Given the description of an element on the screen output the (x, y) to click on. 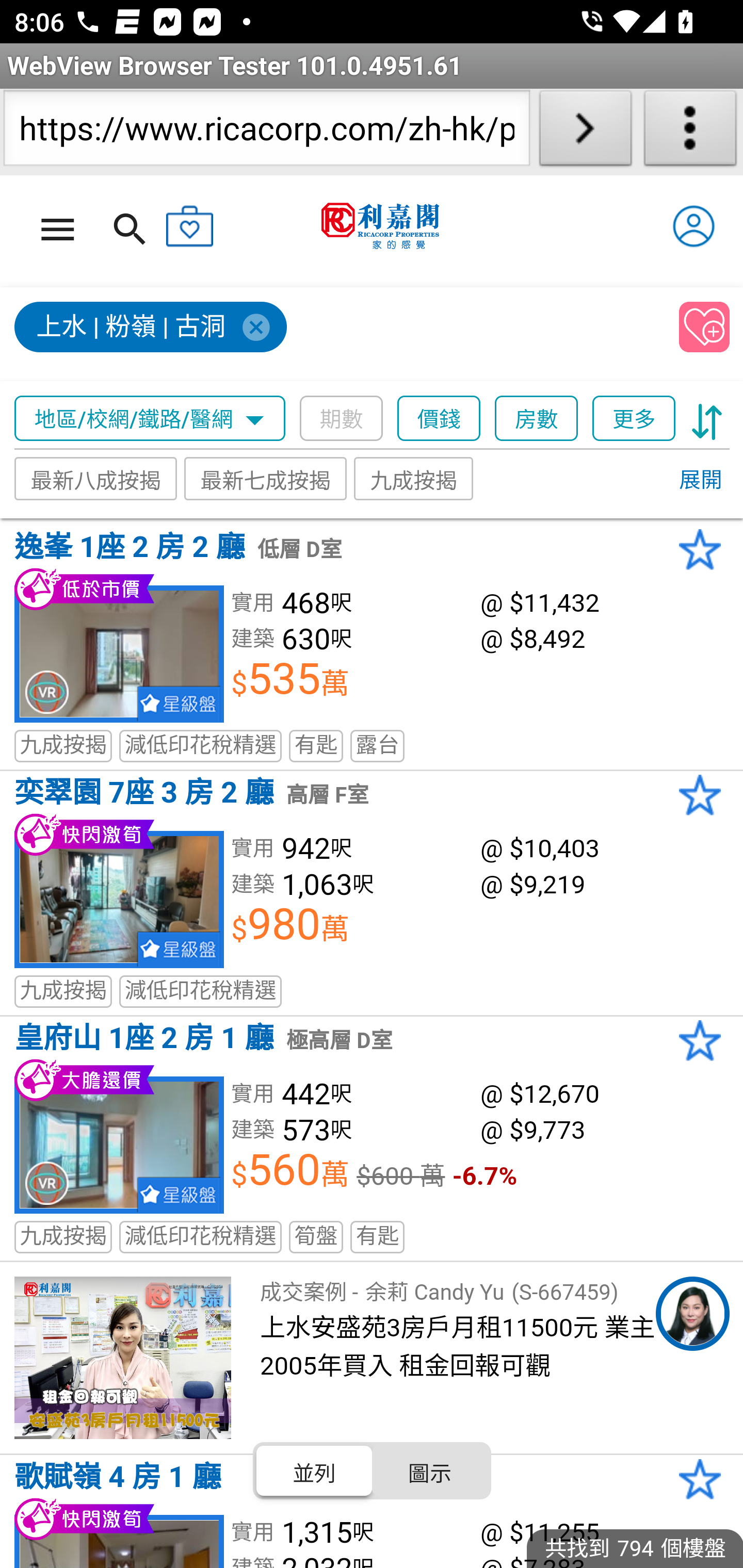
Load URL (585, 132)
About WebView (690, 132)
上水 | 粉嶺 | 古洞 (151, 327)
save (705, 327)
地區/校網/鐵路/醫網 (150, 418)
期數 (341, 418)
價錢 (439, 418)
房數 (536, 418)
更多 (634, 418)
sort (706, 418)
最新八成按揭 (96, 478)
最新七成按揭 (266, 478)
九成按揭 (413, 478)
展開 (699, 481)
Candy Yu (692, 1313)
並列 (314, 1470)
圖示 (429, 1470)
